Given the description of an element on the screen output the (x, y) to click on. 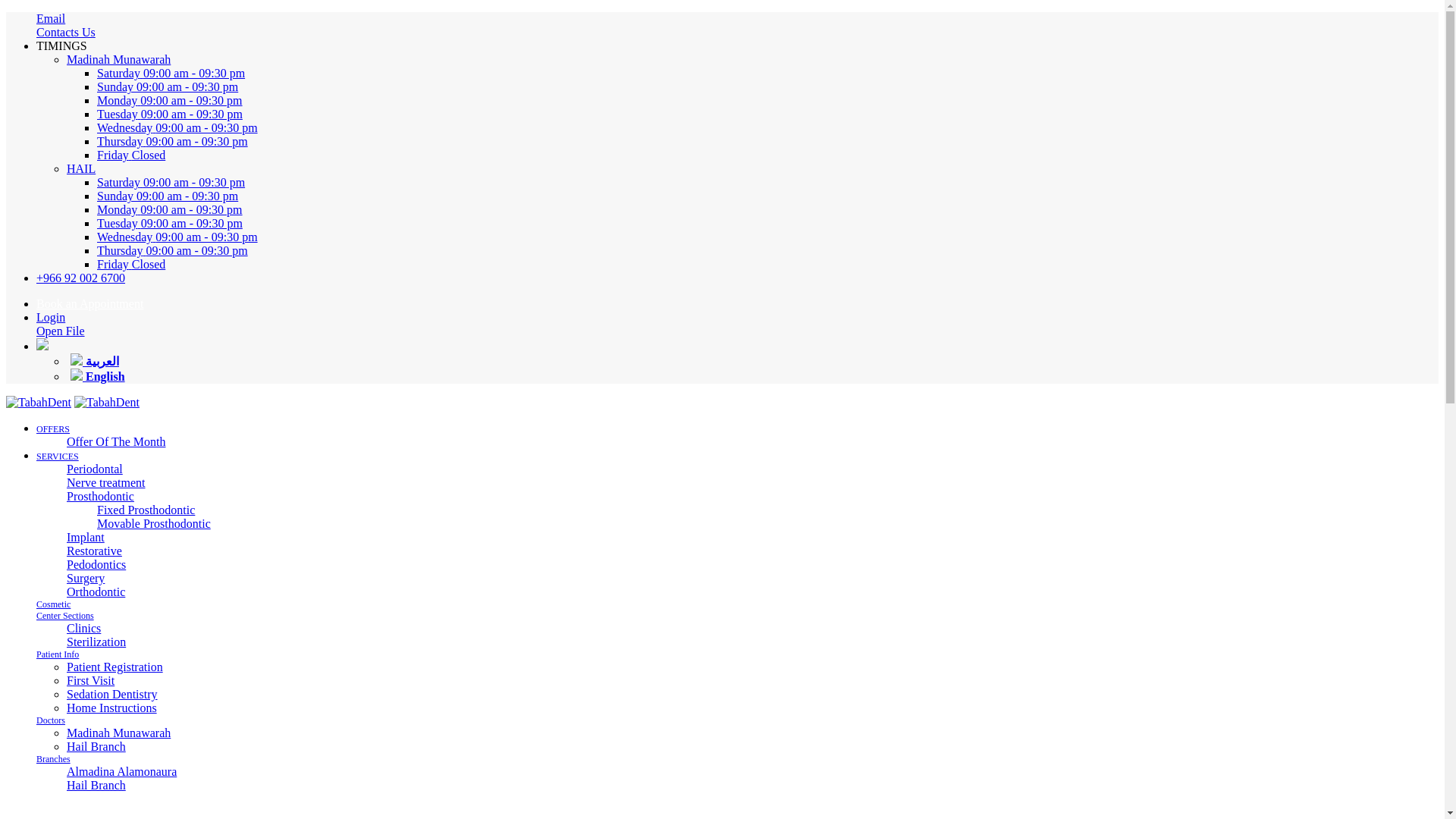
Thursday 09:00 am - 09:30 pm (191, 141)
Wednesday 09:00 am - 09:30 pm (191, 237)
Wednesday 09:00 am - 09:30 pm (191, 128)
Tuesday 09:00 am - 09:30 pm (191, 114)
Madinah Munawarah (118, 59)
Thursday 09:00 am - 09:30 pm (191, 250)
Friday Closed (191, 155)
Friday Closed (191, 264)
Saturday 09:00 am - 09:30 pm (191, 182)
English (97, 376)
Sunday 09:00 am - 09:30 pm (191, 87)
HAIL (81, 168)
TIMINGS (61, 45)
Saturday 09:00 am - 09:30 pm (191, 73)
Monday 09:00 am - 09:30 pm (191, 100)
